Given the description of an element on the screen output the (x, y) to click on. 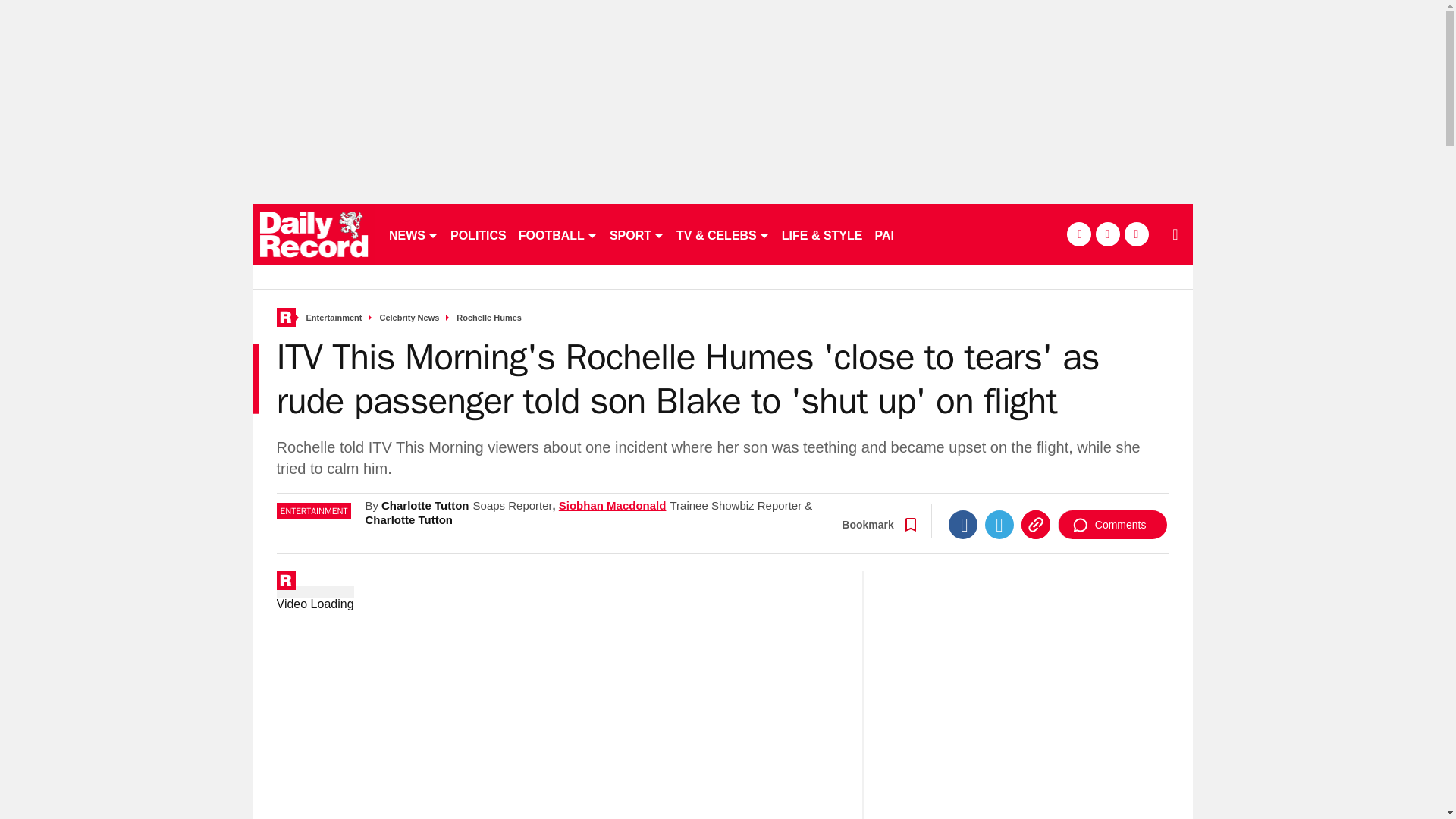
POLITICS (478, 233)
Twitter (999, 524)
Facebook (962, 524)
instagram (1136, 233)
FOOTBALL (558, 233)
facebook (1077, 233)
NEWS (413, 233)
SPORT (636, 233)
twitter (1106, 233)
Comments (1112, 524)
dailyrecord (313, 233)
